Given the description of an element on the screen output the (x, y) to click on. 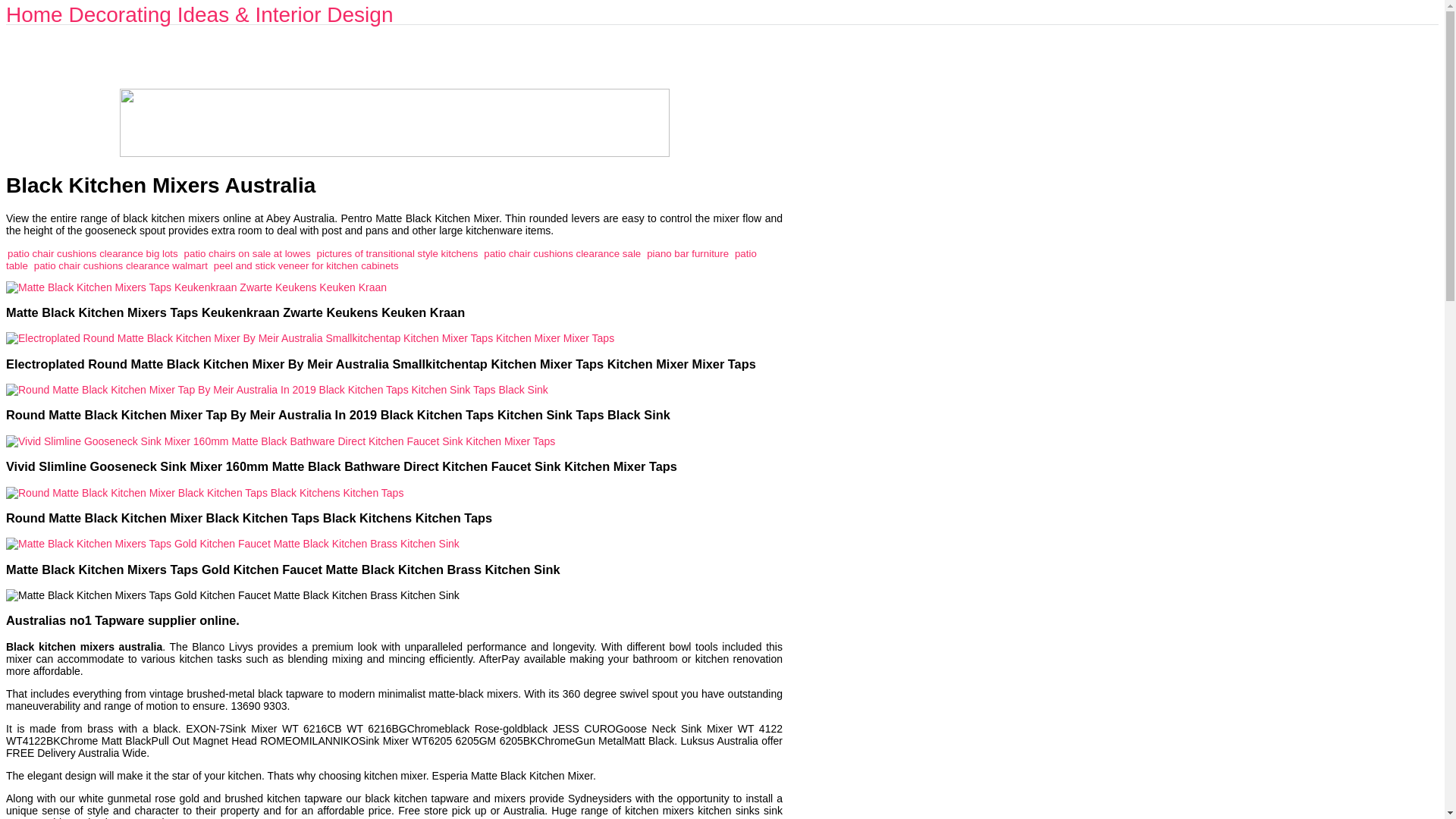
piano bar furniture (687, 252)
patio chairs on sale at lowes (247, 252)
patio table (381, 259)
pictures of transitional style kitchens (398, 252)
patio chair cushions clearance walmart (120, 265)
patio chair cushions clearance big lots (92, 252)
patio chair cushions clearance sale (561, 252)
peel and stick veneer for kitchen cabinets (306, 265)
